Given the description of an element on the screen output the (x, y) to click on. 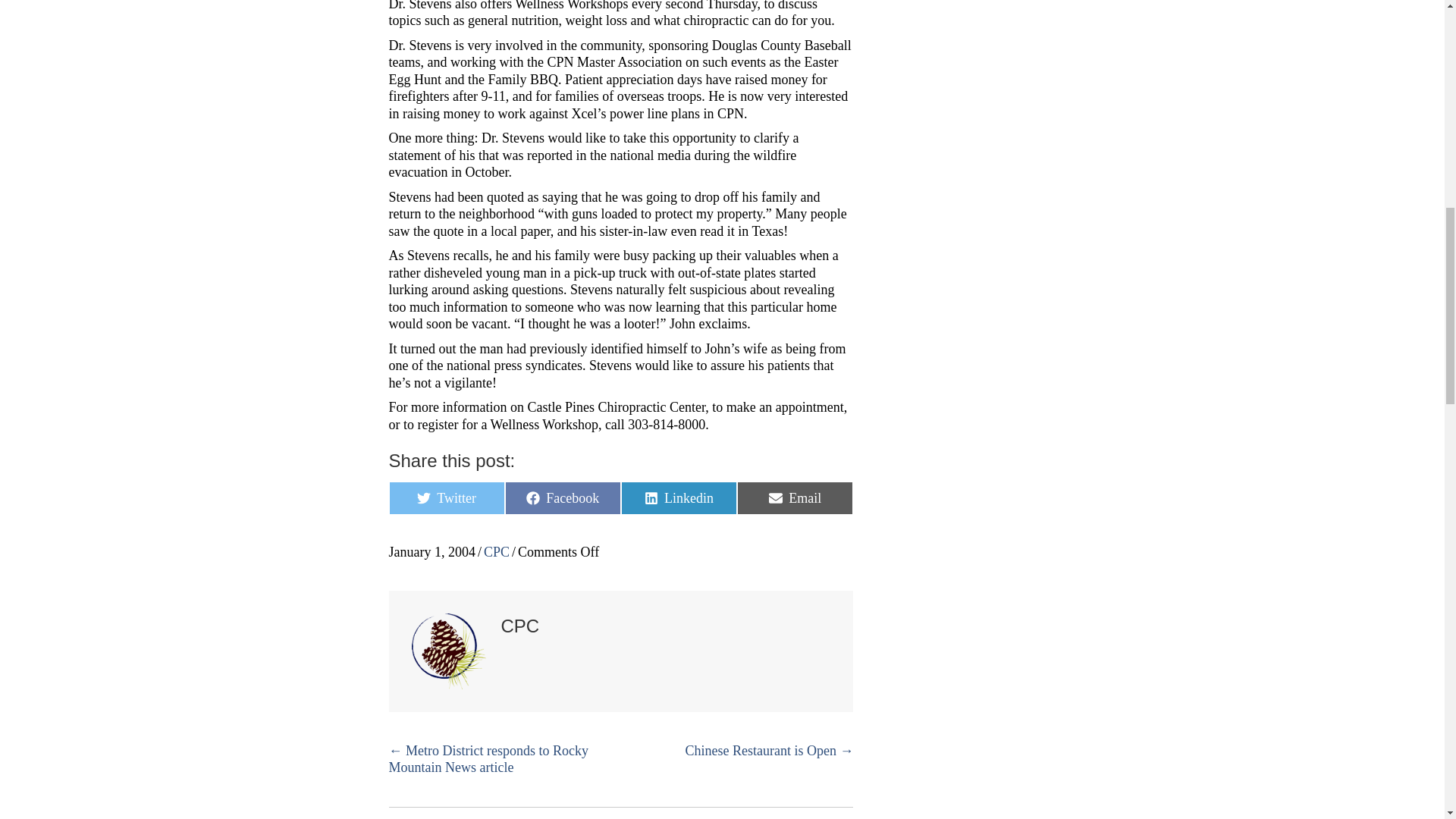
Email (794, 498)
Twitter (445, 498)
Linkedin (678, 498)
Facebook (563, 498)
CPC (496, 551)
